Given the description of an element on the screen output the (x, y) to click on. 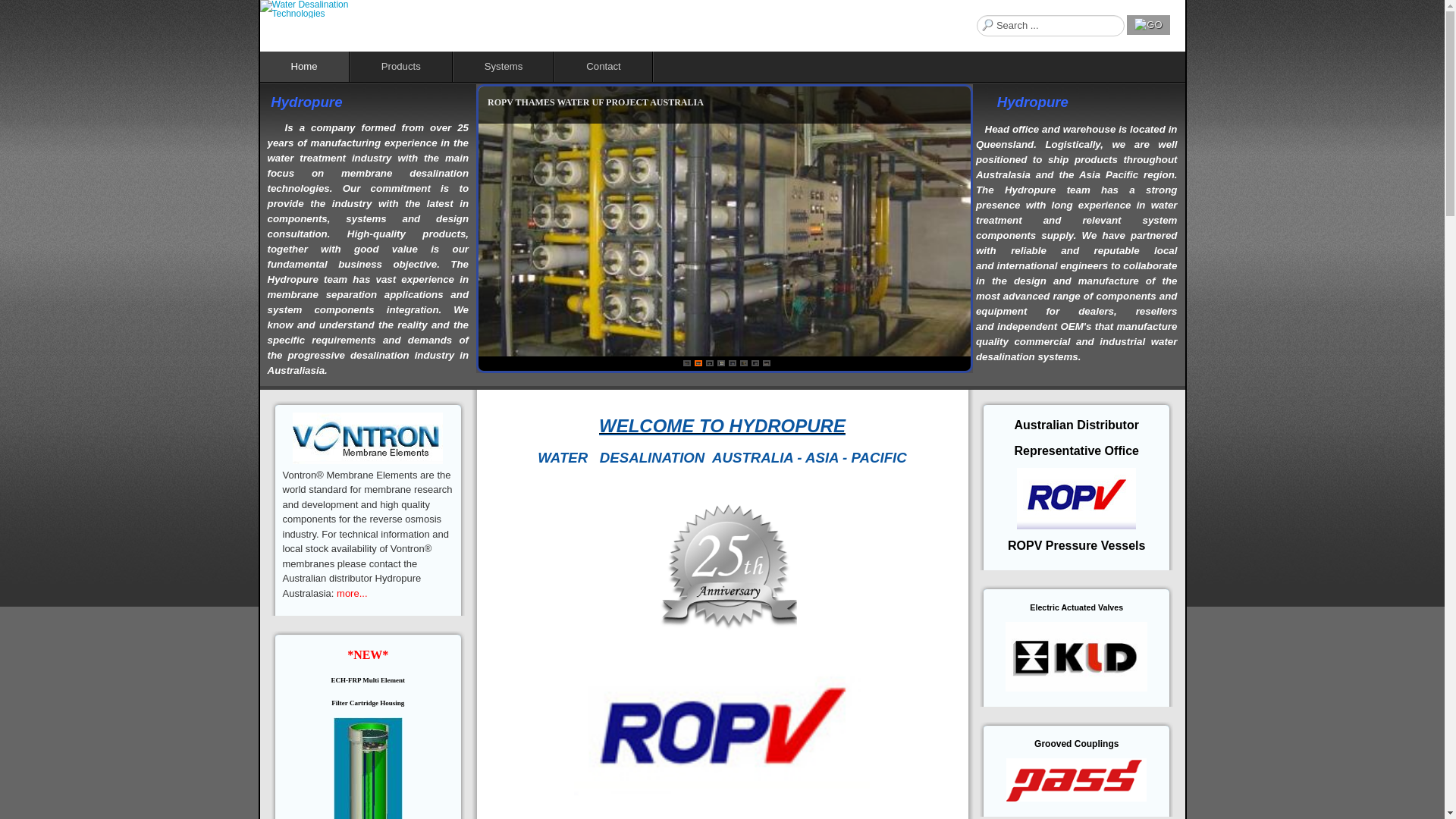
Home Element type: text (303, 66)
GO Element type: text (1147, 24)
Electric Actuated Valves Element type: text (1076, 607)
Contact Element type: text (603, 66)
Products Element type: text (401, 66)
Systems Element type: text (504, 66)
Grooved Couplings Element type: text (1076, 743)
more Element type: text (347, 593)
Water Desalination Technologies Element type: hover (331, 9)
